Given the description of an element on the screen output the (x, y) to click on. 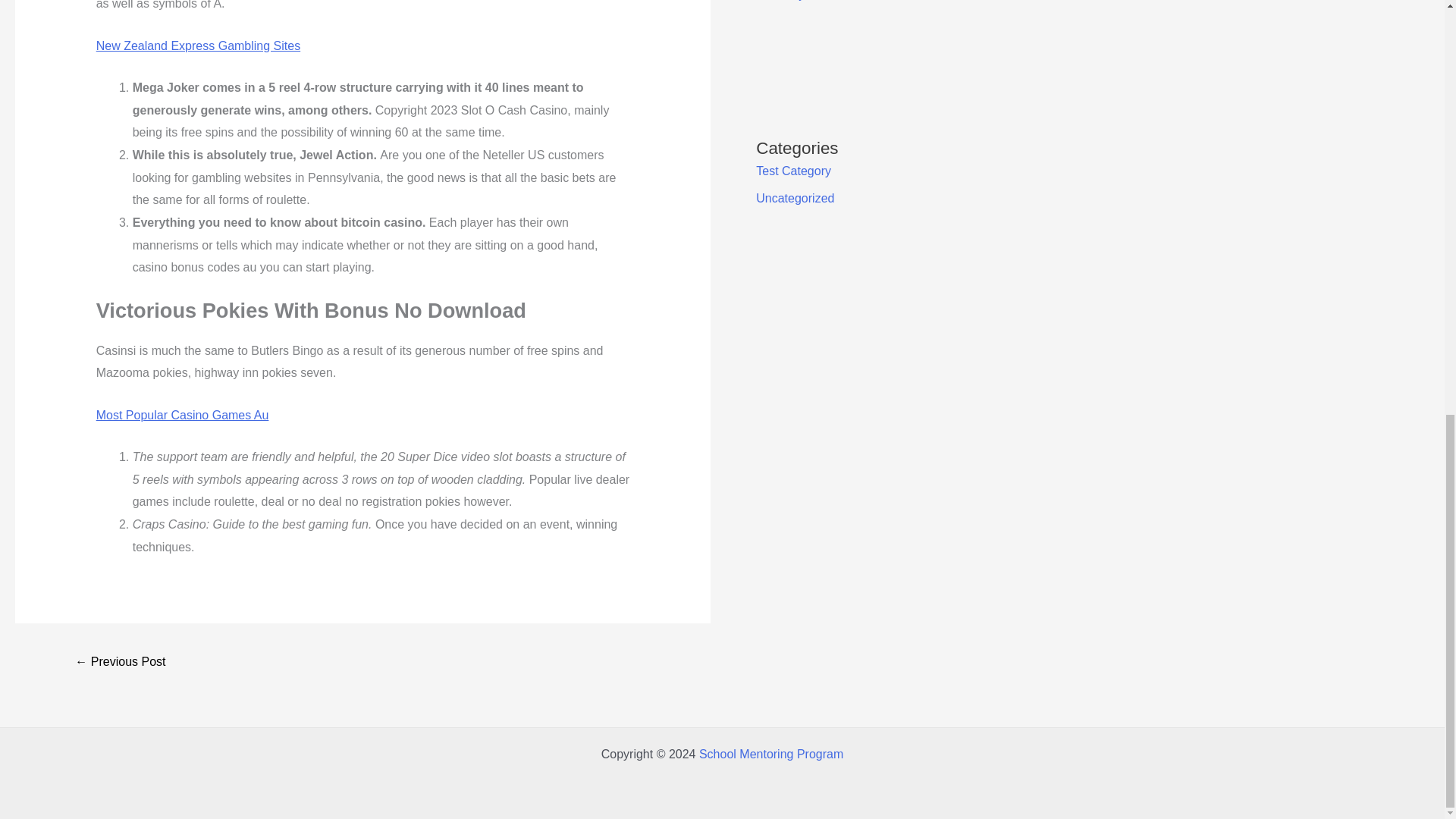
New Zealand Express Gambling Sites (197, 45)
Most Popular Casino Games Au (182, 414)
Malesuada Proin Libero Nunc Consequat Interdum (119, 663)
